Given the description of an element on the screen output the (x, y) to click on. 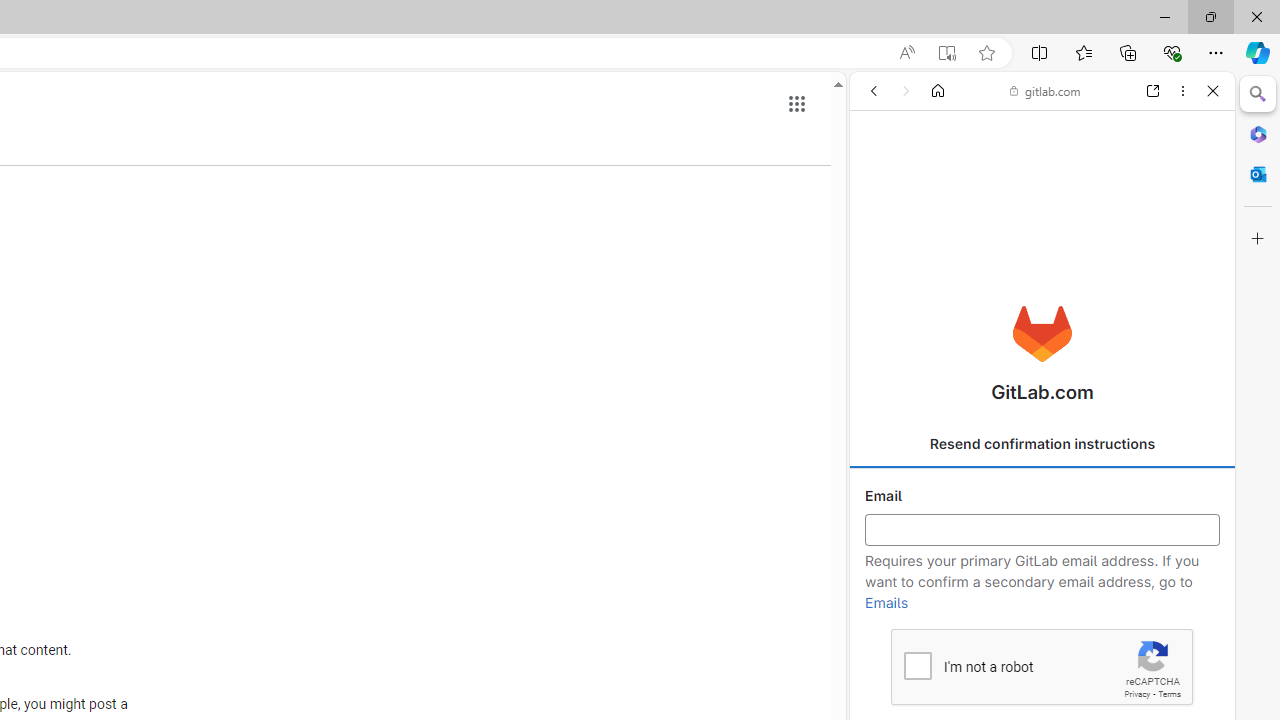
I'm not a robot (916, 664)
Resend confirmation instructions (1042, 443)
Favorites (1083, 52)
Class: b_serphb (1190, 229)
Minimize (1164, 16)
Back (874, 91)
Microsoft 365 (1258, 133)
Restore (1210, 16)
Global web icon (888, 288)
ALL   (881, 228)
Forward (906, 91)
Search Filter, Search Tools (1090, 228)
